Given the description of an element on the screen output the (x, y) to click on. 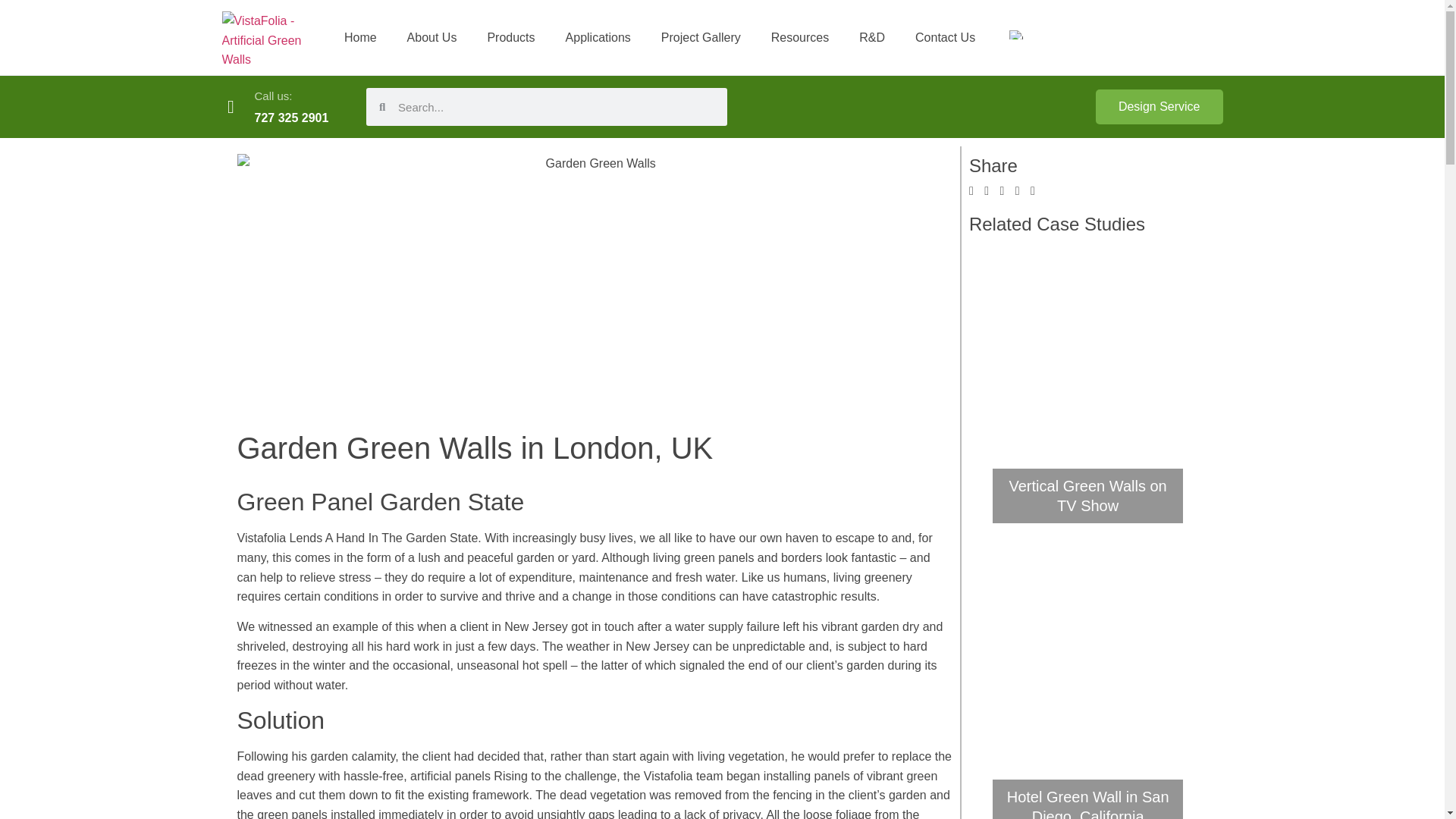
Home (360, 36)
Applications (598, 36)
English (1016, 34)
About Us (431, 36)
Products (510, 36)
